Given the description of an element on the screen output the (x, y) to click on. 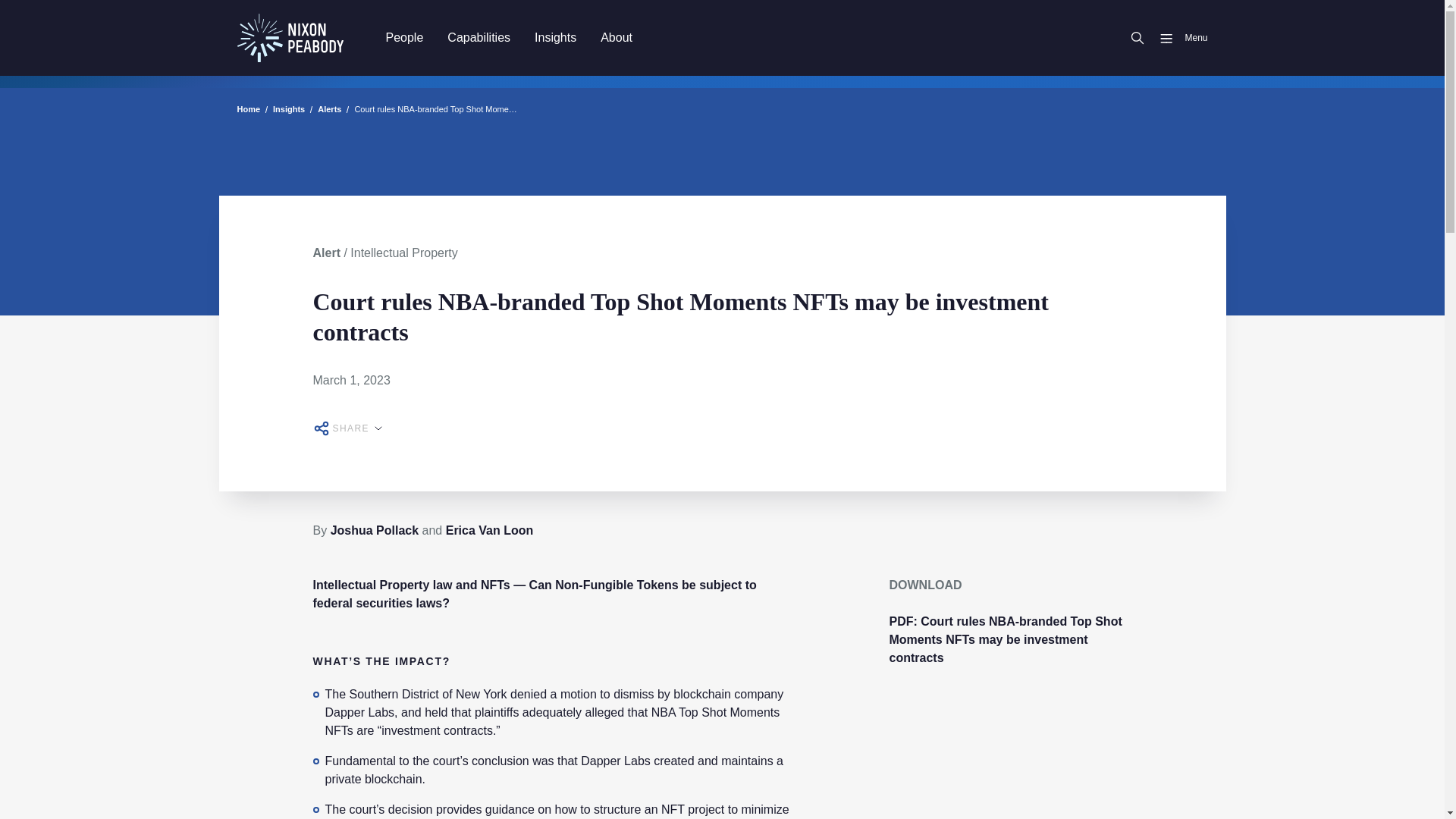
Insights (555, 37)
About (616, 37)
Capabilities (478, 37)
Menu (1177, 37)
People (403, 37)
